Given the description of an element on the screen output the (x, y) to click on. 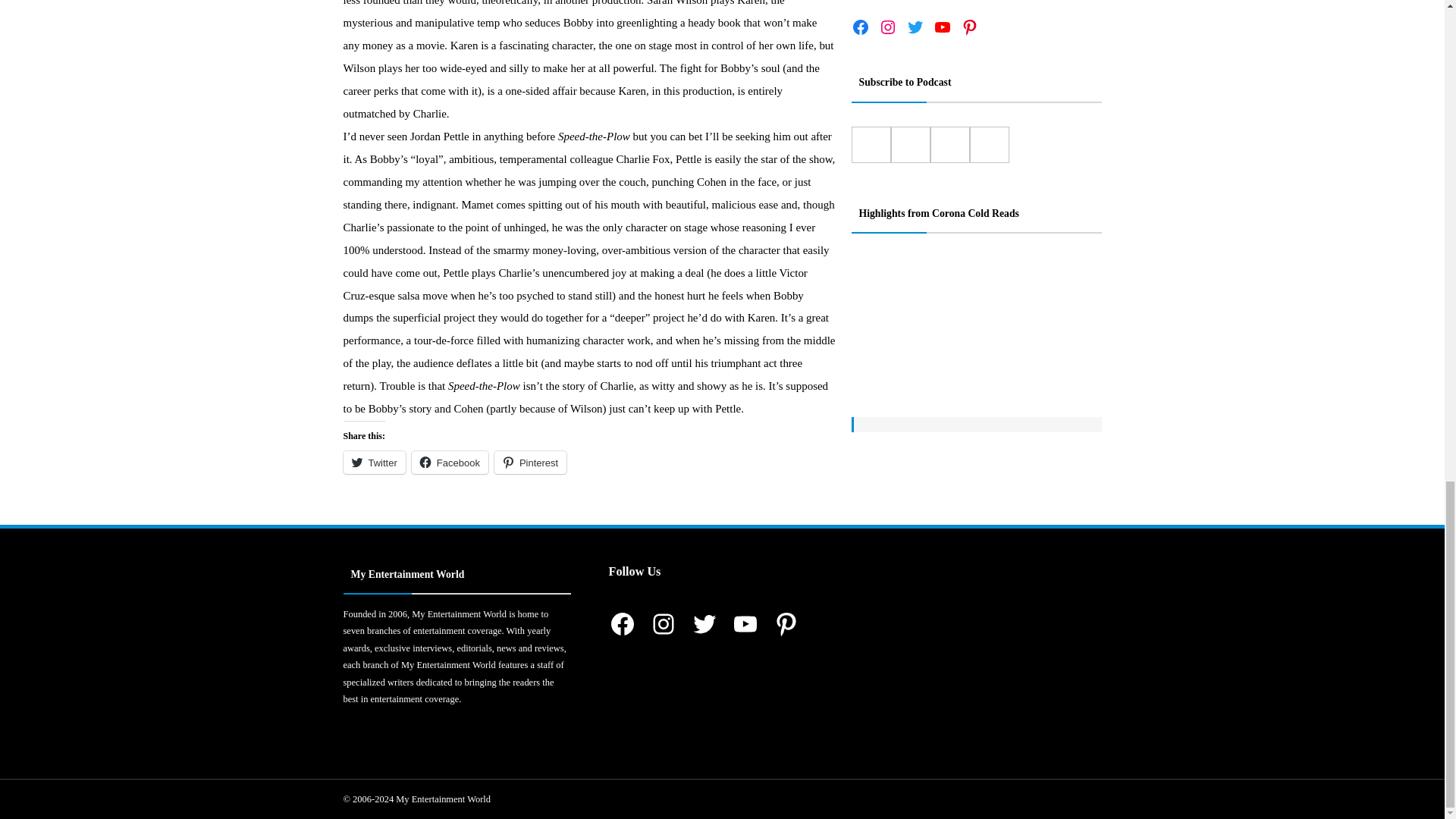
Click to share on Facebook (449, 462)
Facebook (449, 462)
Click to share on Twitter (373, 462)
Twitter (373, 462)
Click to share on Pinterest (530, 462)
Pinterest (530, 462)
